Given the description of an element on the screen output the (x, y) to click on. 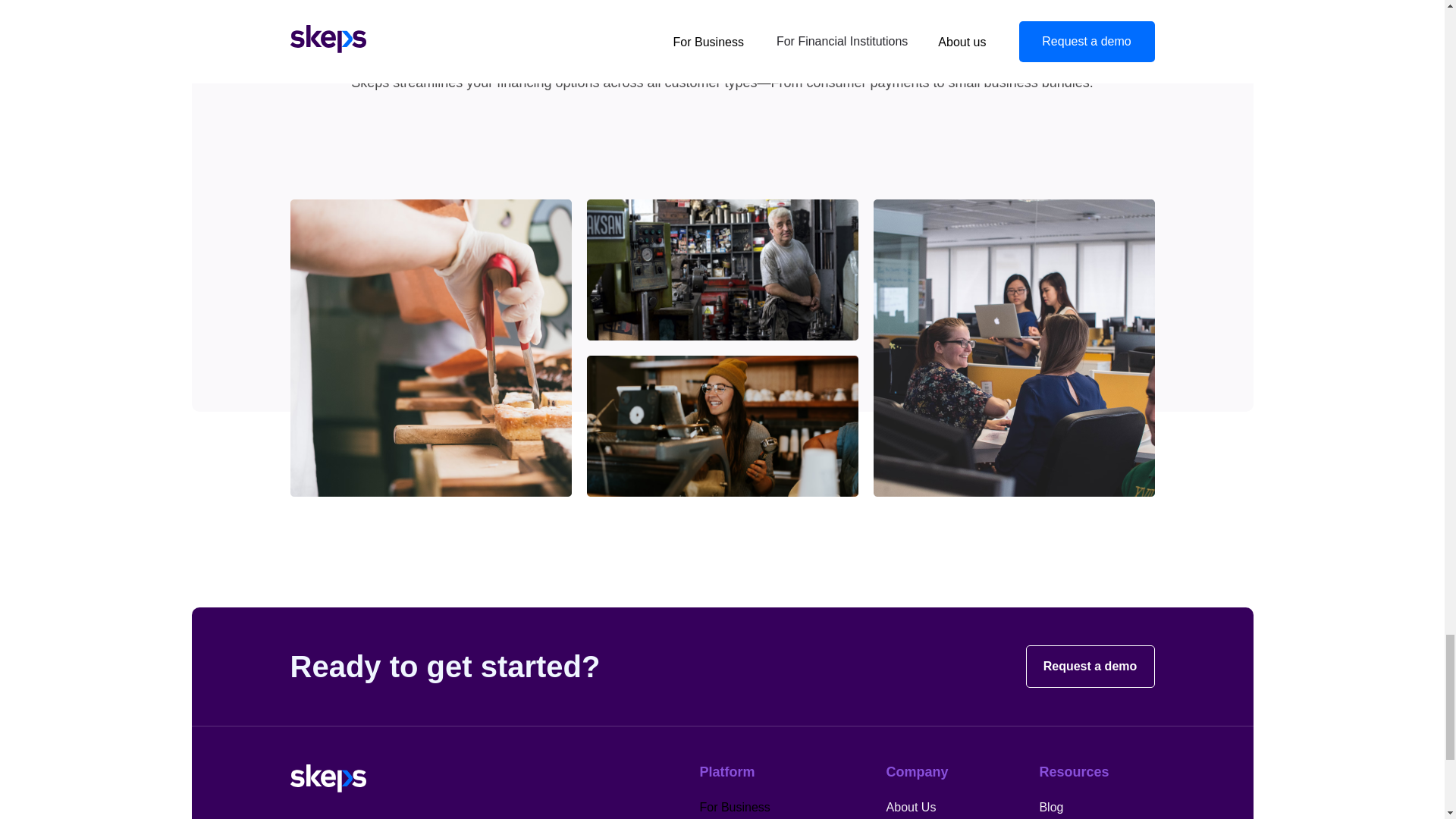
Blog (1050, 807)
About Us (911, 807)
For Business (734, 807)
